Given the description of an element on the screen output the (x, y) to click on. 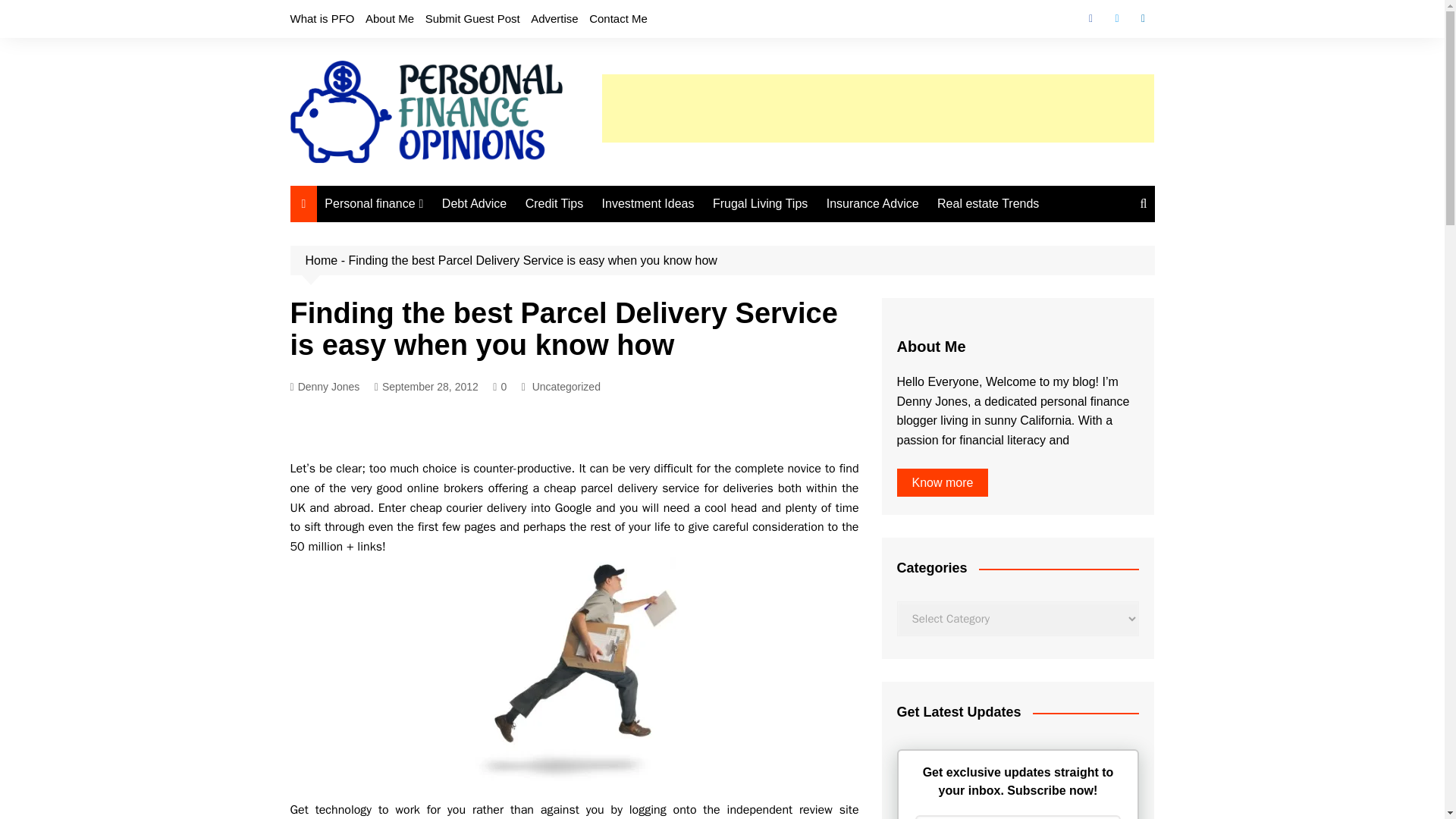
Contact Me (618, 18)
Frugal Living (400, 259)
Facebook (1091, 18)
Linkedin (1142, 18)
What is PFO (321, 18)
Real estate Trends (988, 203)
Credit Tips (554, 203)
Saving Money (400, 284)
Frugal Living Tips (759, 203)
Insurance Advice (872, 203)
